Given the description of an element on the screen output the (x, y) to click on. 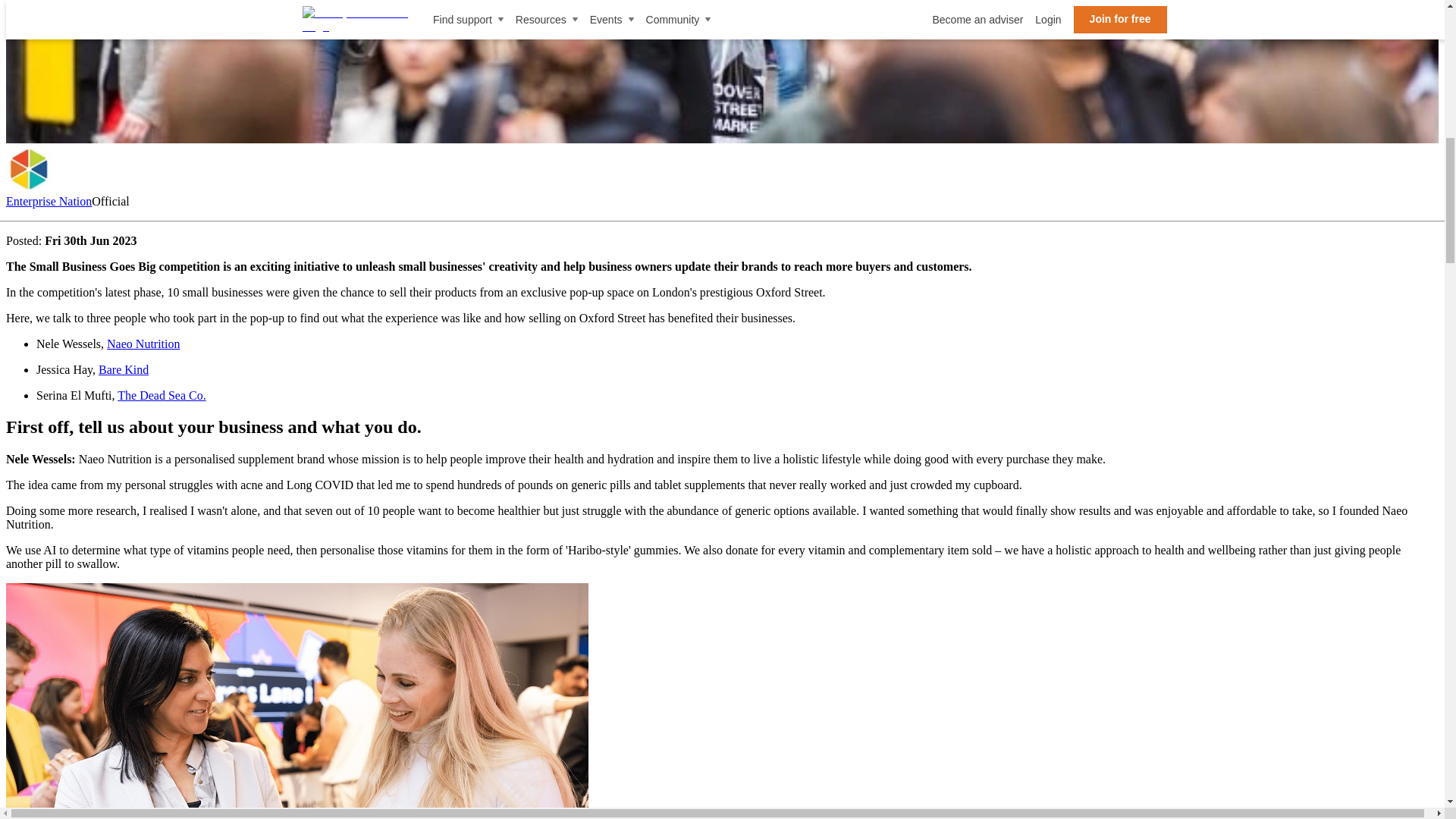
Enterprise Nation (48, 201)
Bare Kind (123, 369)
The Dead Sea Co. (161, 395)
Naeo Nutrition (142, 343)
Enterprise Nation (27, 168)
